Given the description of an element on the screen output the (x, y) to click on. 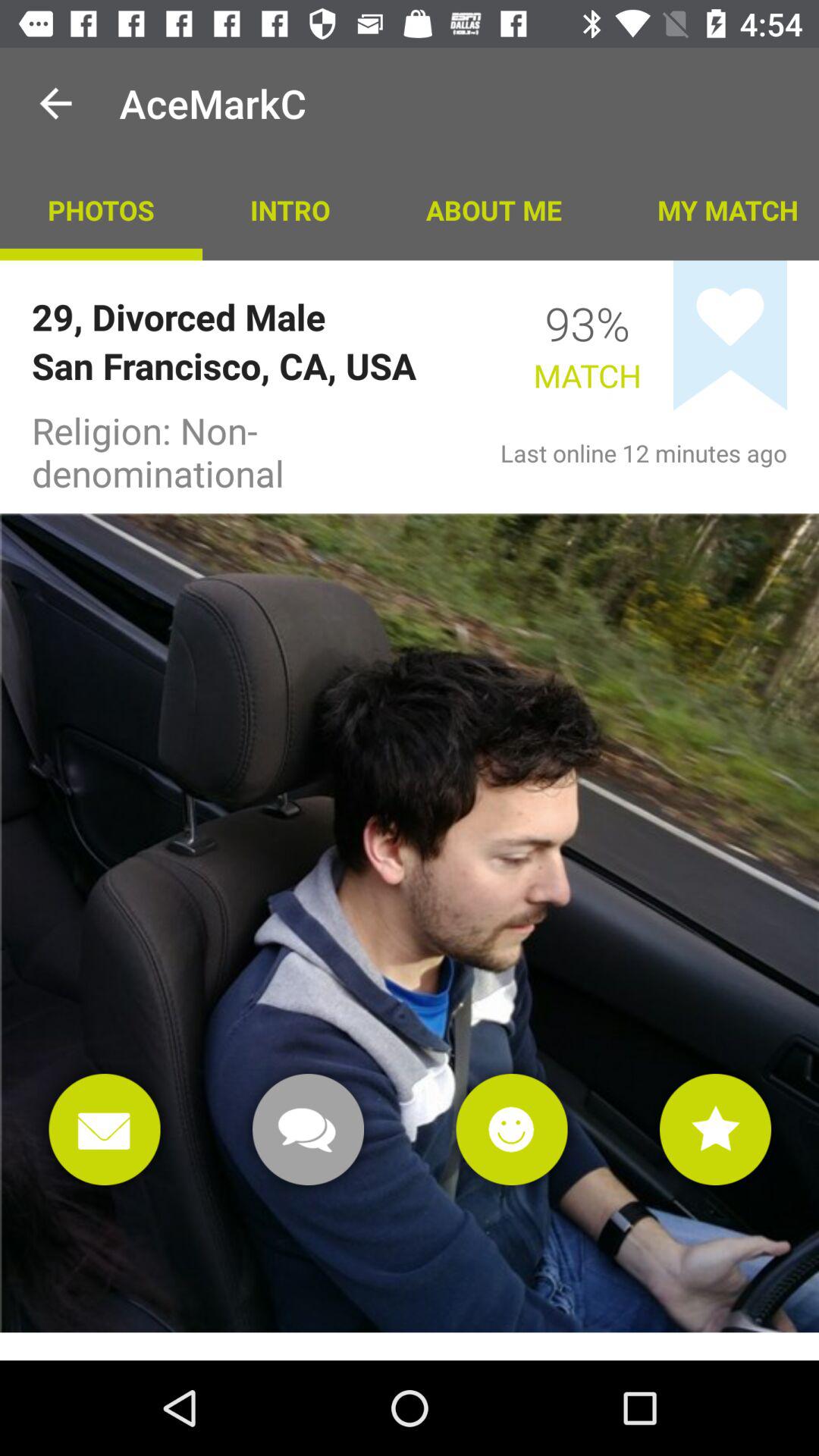
turn off the icon above last online 12 item (730, 335)
